Given the description of an element on the screen output the (x, y) to click on. 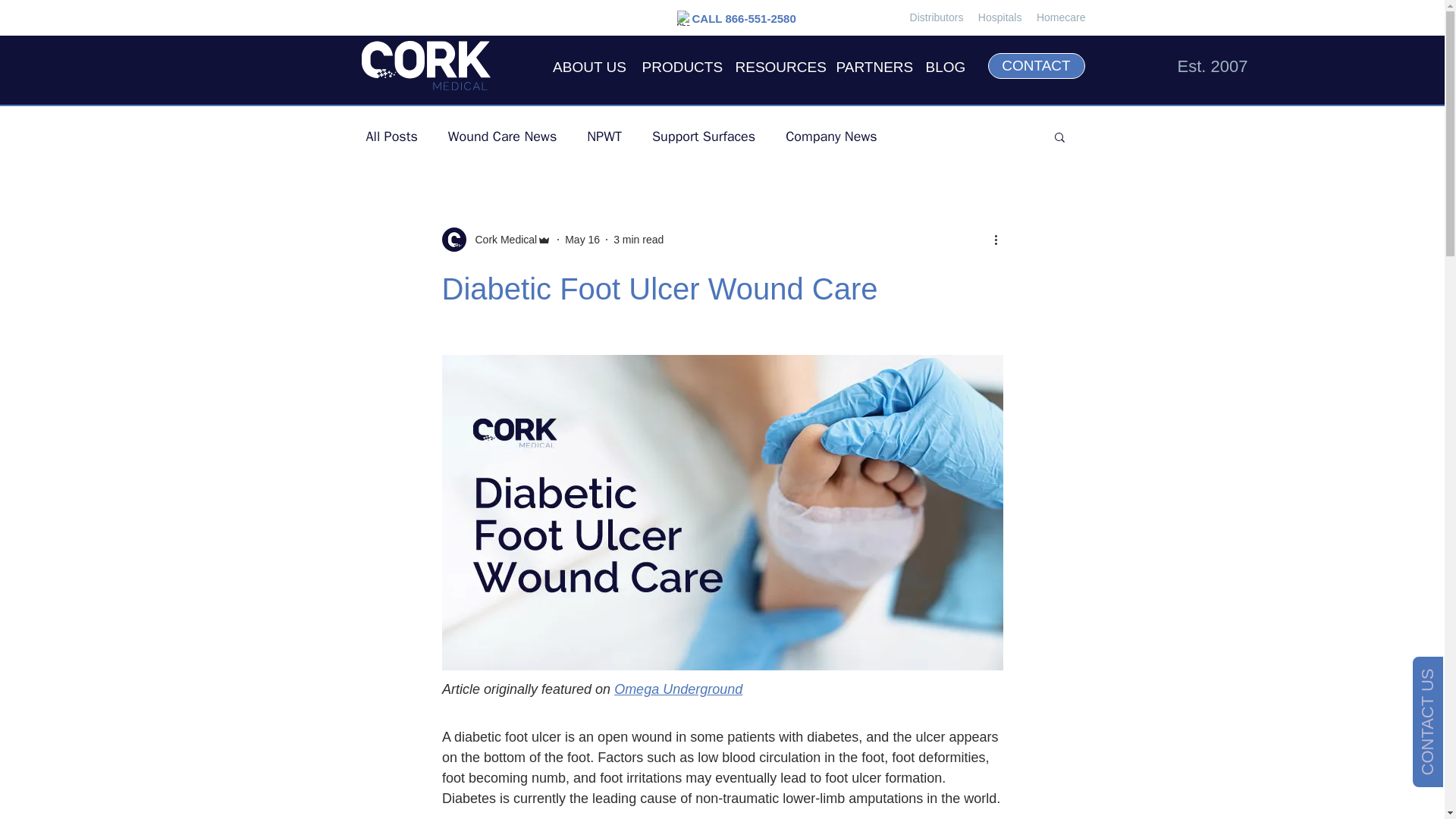
NPWT (603, 136)
3 min read (637, 239)
BLOG (944, 66)
Support Surfaces (703, 136)
Company News (831, 136)
ABOUT US (588, 66)
Homecare (1061, 17)
PRODUCTS (679, 66)
CONTACT (1035, 65)
All Posts (390, 136)
